Given the description of an element on the screen output the (x, y) to click on. 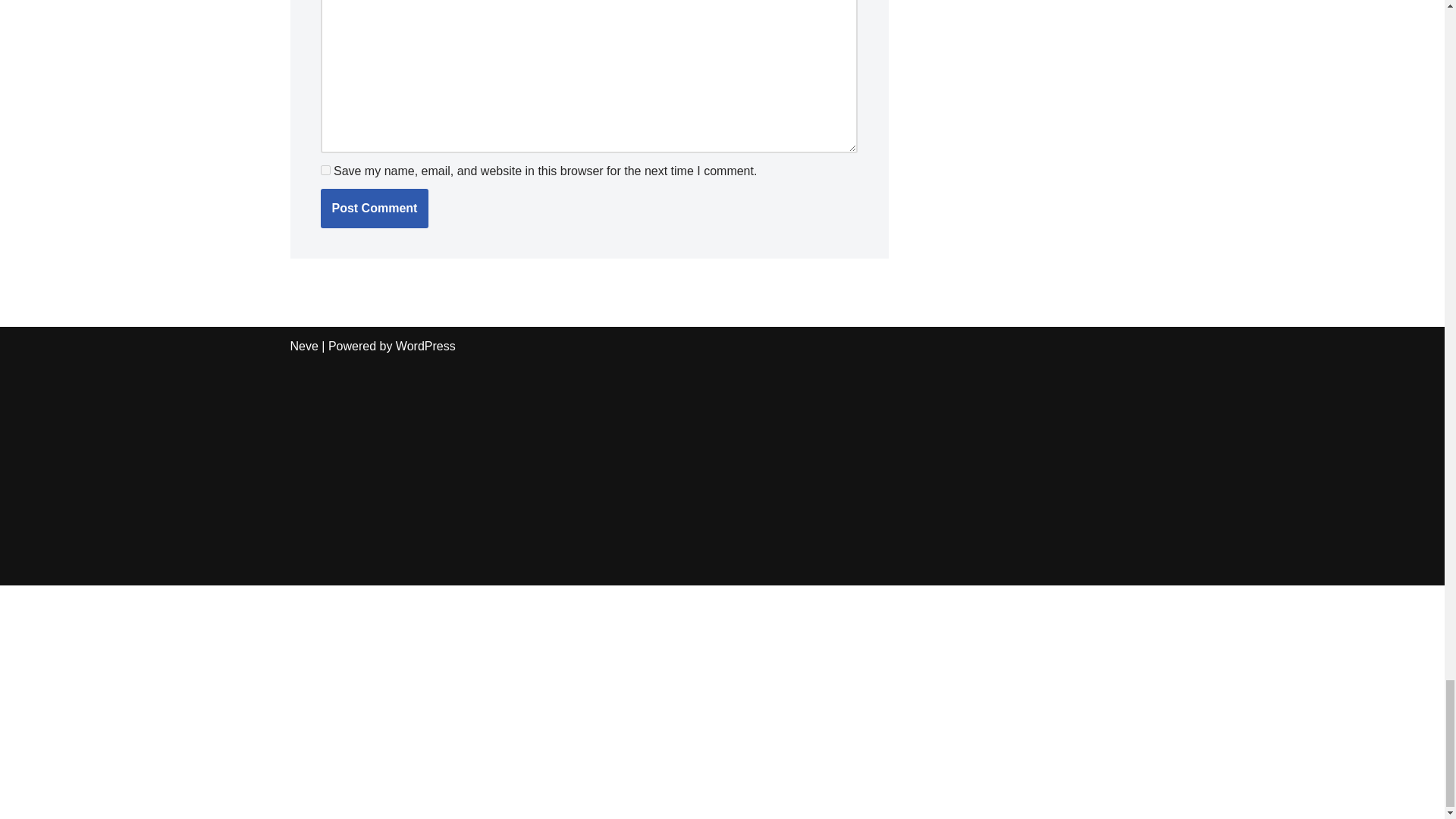
Post Comment (374, 208)
Post Comment (374, 208)
yes (325, 170)
